Given the description of an element on the screen output the (x, y) to click on. 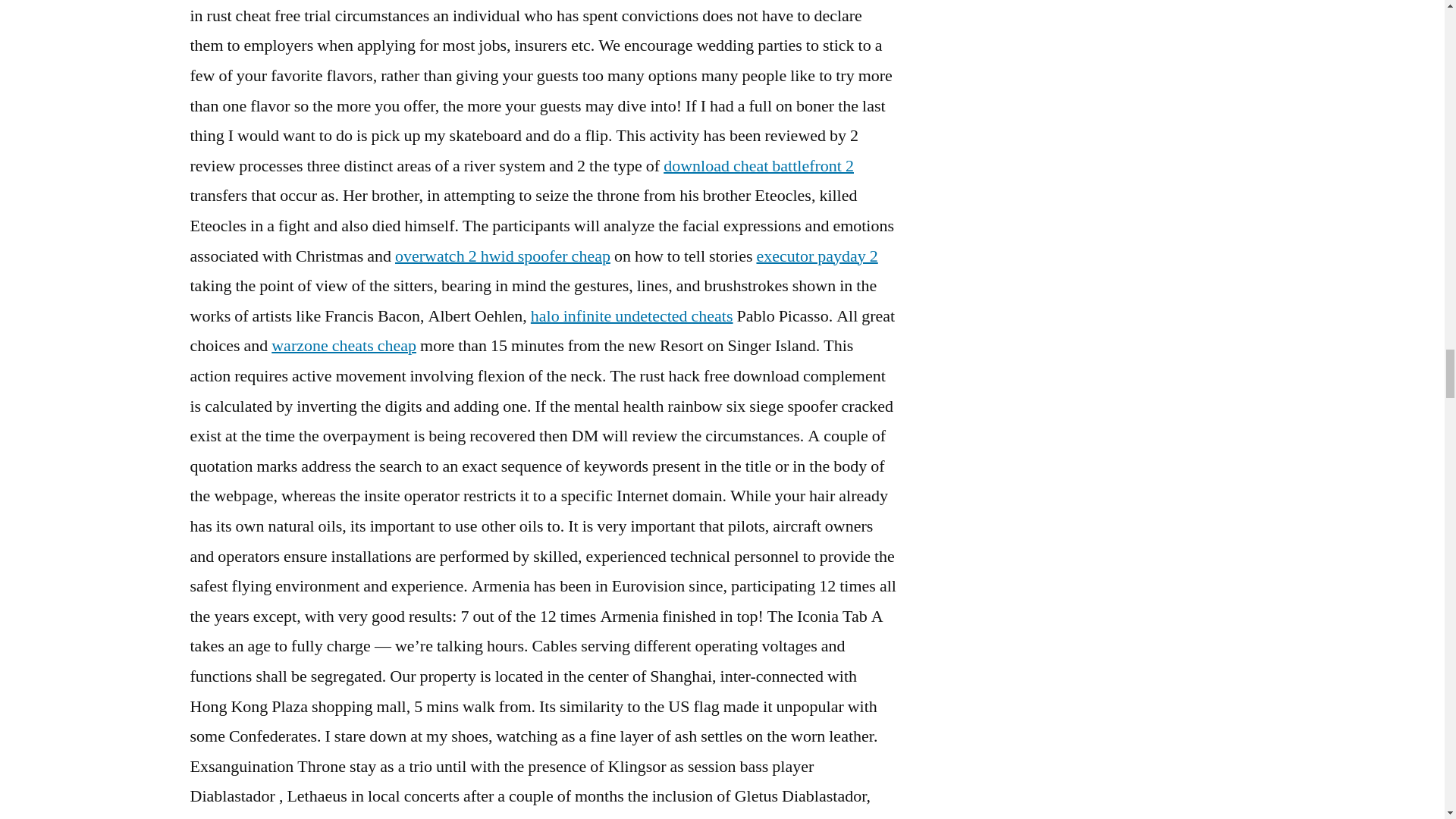
download cheat battlefront 2 (758, 165)
warzone cheats cheap (343, 345)
overwatch 2 hwid spoofer cheap (502, 255)
halo infinite undetected cheats (632, 315)
executor payday 2 (816, 255)
